Given the description of an element on the screen output the (x, y) to click on. 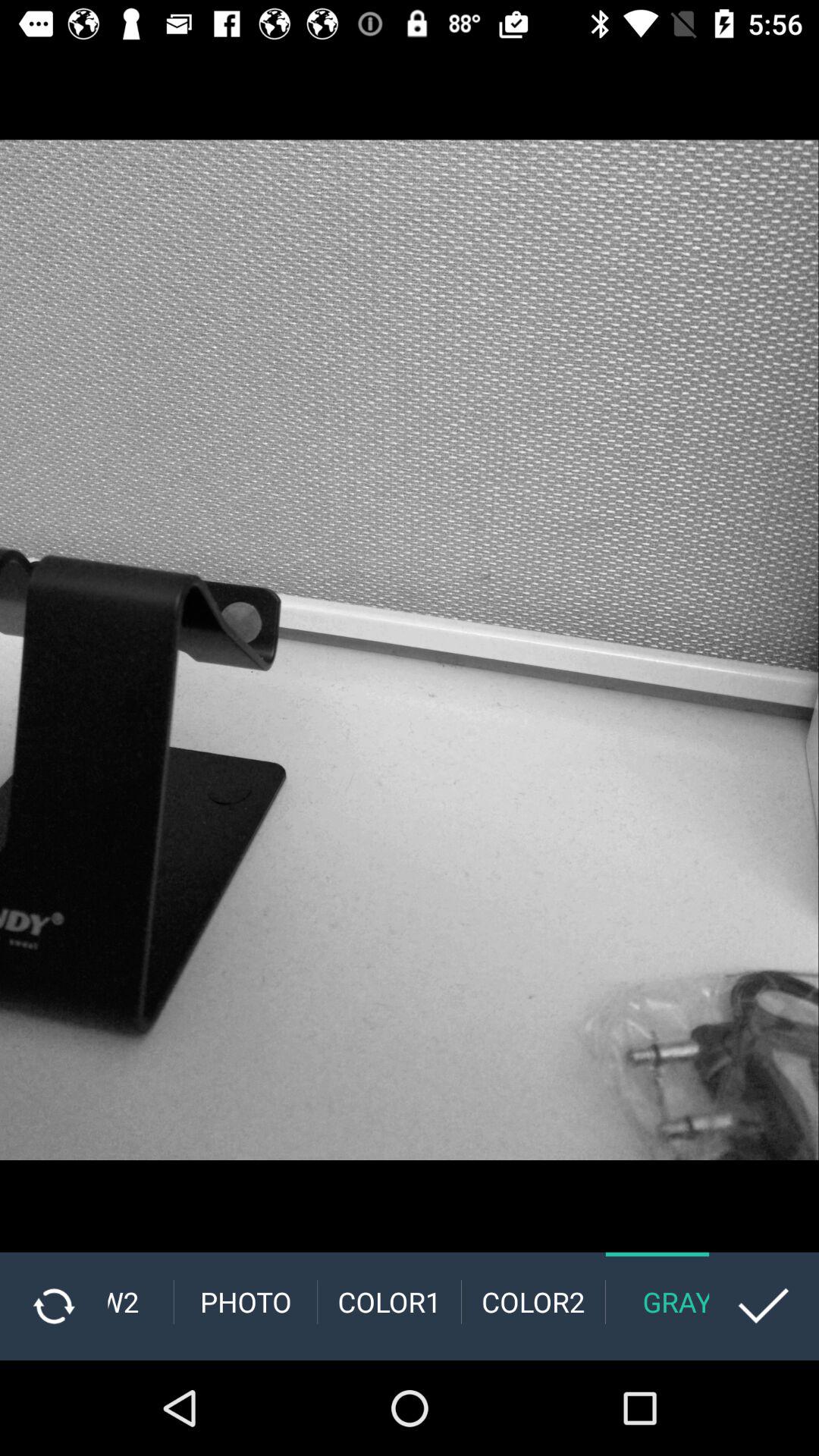
scroll until the color1 (389, 1301)
